Given the description of an element on the screen output the (x, y) to click on. 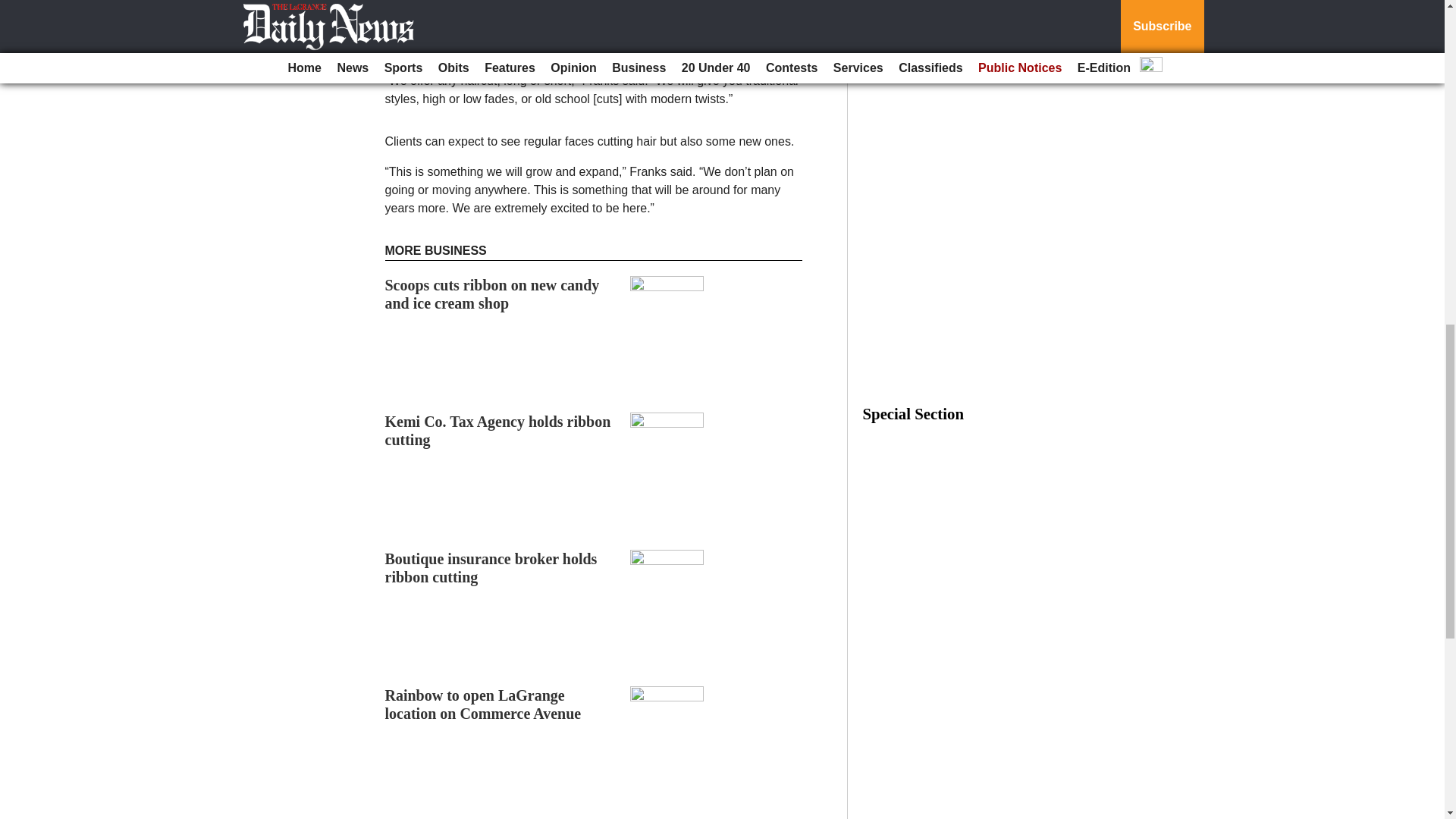
Kemi Co. Tax Agency holds ribbon cutting (498, 430)
Boutique insurance broker holds ribbon cutting (490, 567)
Rainbow to open LaGrange location on Commerce Avenue (482, 704)
Rainbow to open LaGrange location on Commerce Avenue (482, 704)
Scoops cuts ribbon on new candy and ice cream shop (492, 294)
Kemi Co. Tax Agency holds ribbon cutting (498, 430)
Boutique insurance broker holds ribbon cutting (490, 567)
Scoops cuts ribbon on new candy and ice cream shop (492, 294)
